Given the description of an element on the screen output the (x, y) to click on. 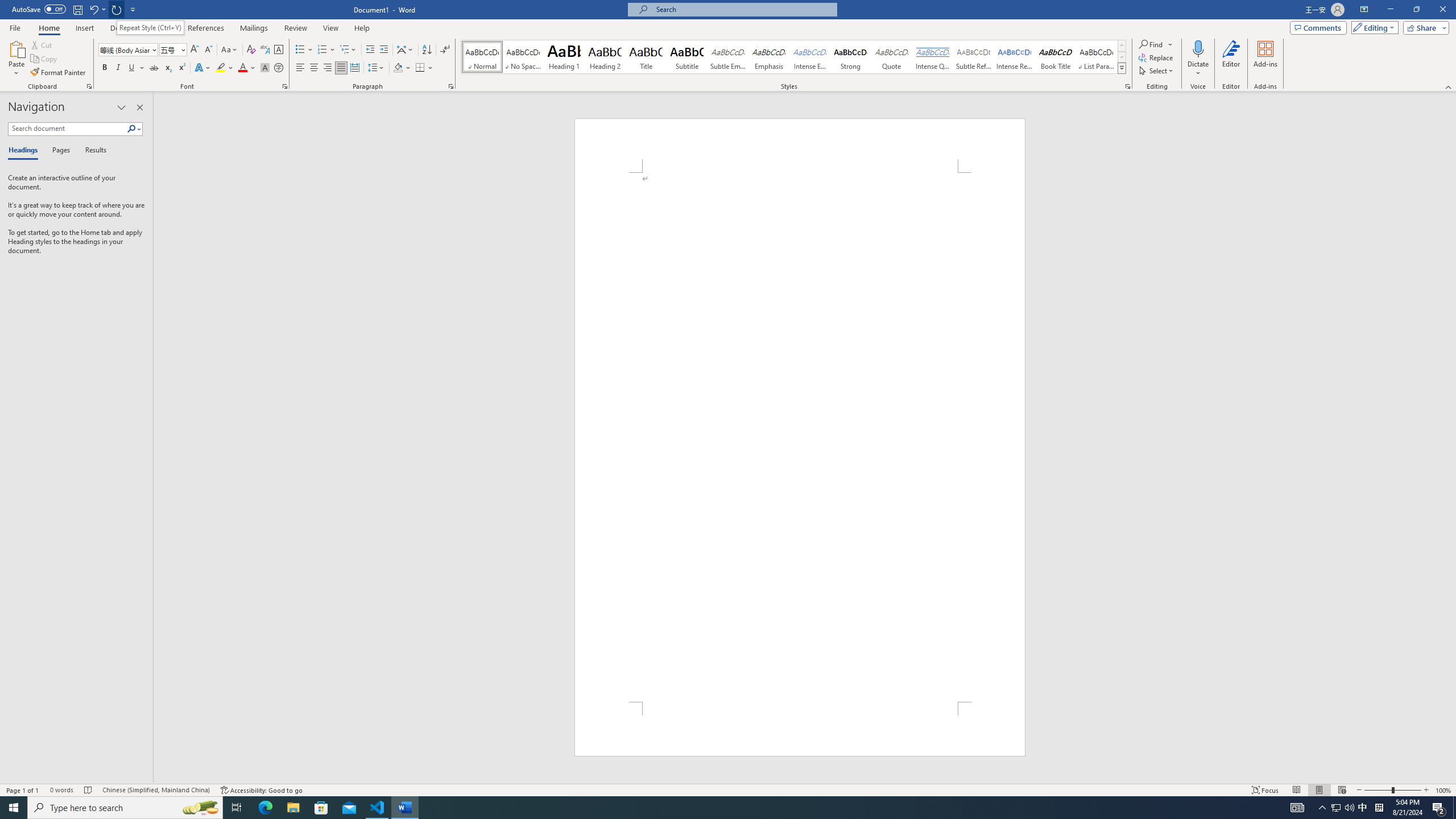
Select (1157, 69)
Strong (849, 56)
Heading 2 (605, 56)
Paste (16, 58)
Text Highlight Color (224, 67)
Title (646, 56)
Change Case (229, 49)
Editor (1231, 58)
Replace... (1156, 56)
Read Mode (1296, 790)
Quote (891, 56)
Styles (1121, 67)
View (330, 28)
Font... (285, 85)
Ribbon Display Options (1364, 9)
